Given the description of an element on the screen output the (x, y) to click on. 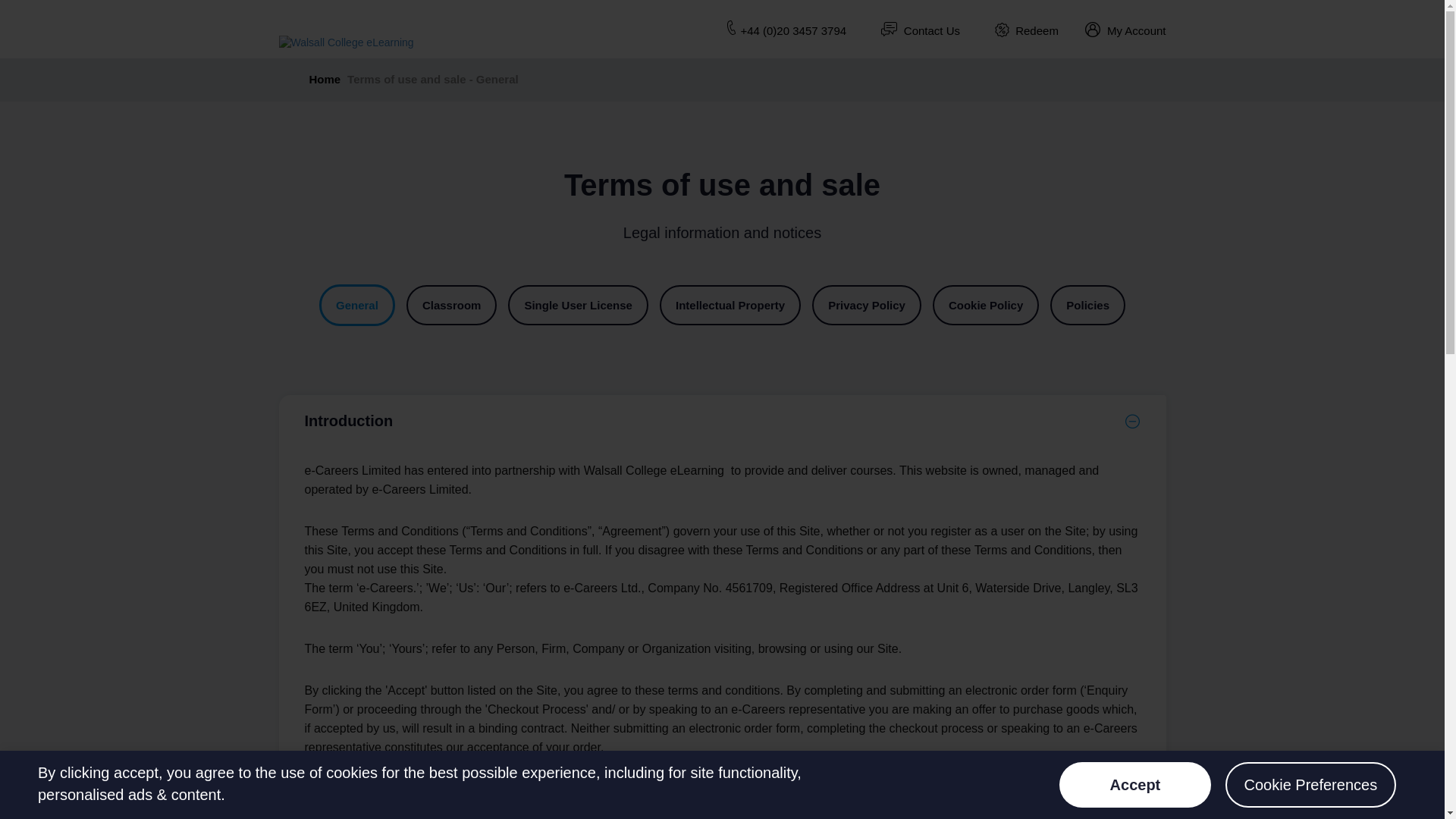
My Account (1125, 30)
Accept (1135, 784)
Policies (1087, 305)
Cookie Preferences (1310, 784)
Introduction (721, 420)
Single User License (577, 305)
Redeem (1001, 29)
Terms of use and sale - General (434, 78)
Redeem (1036, 30)
Privacy Policy (866, 305)
Contact Us (931, 30)
General (356, 304)
Classroom (451, 305)
Profile (1092, 29)
Contact us (888, 28)
